Given the description of an element on the screen output the (x, y) to click on. 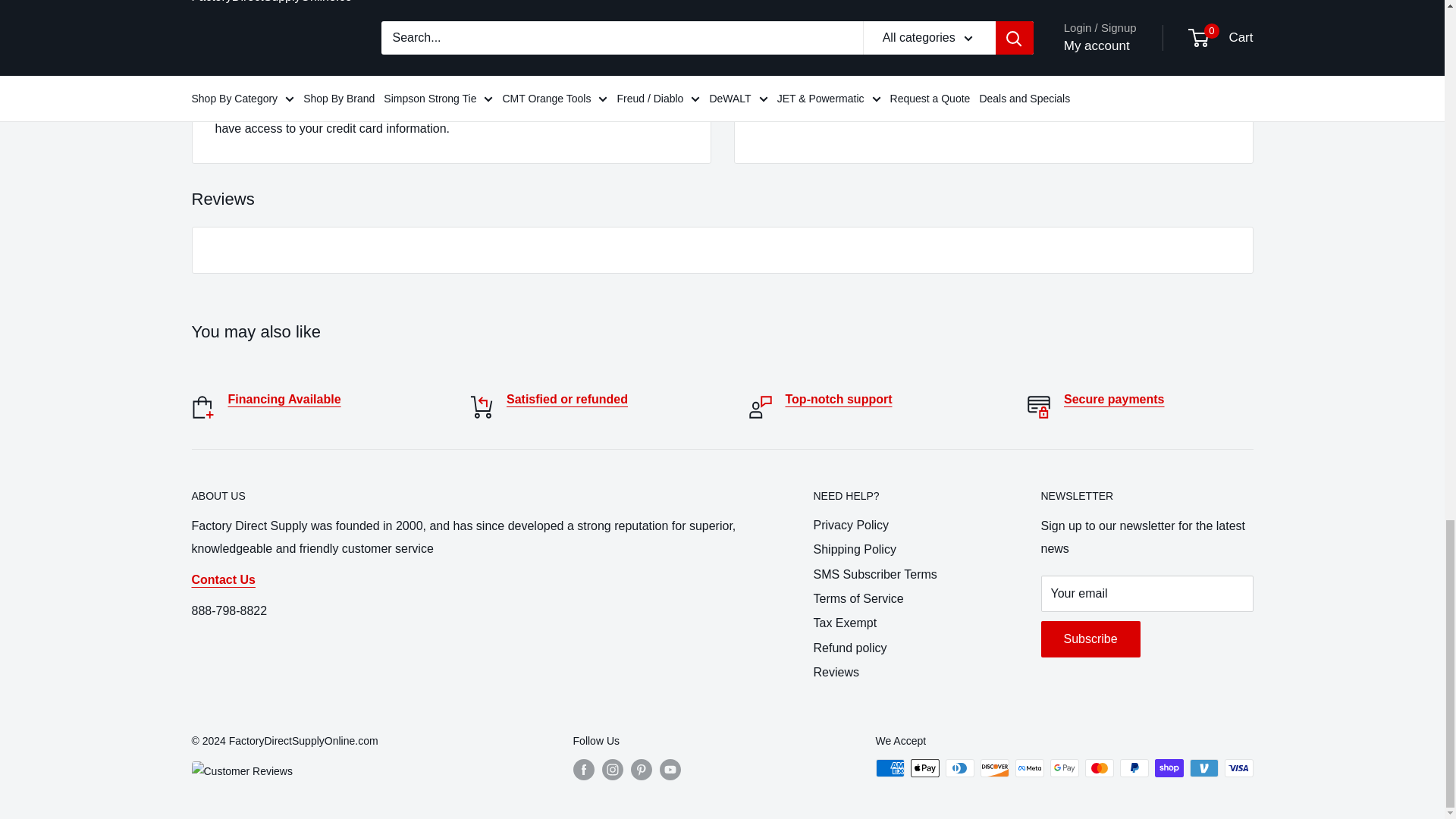
Refund Policy (566, 399)
Terms of Service (1114, 399)
Financing Options (283, 399)
Contact Us (839, 399)
